Given the description of an element on the screen output the (x, y) to click on. 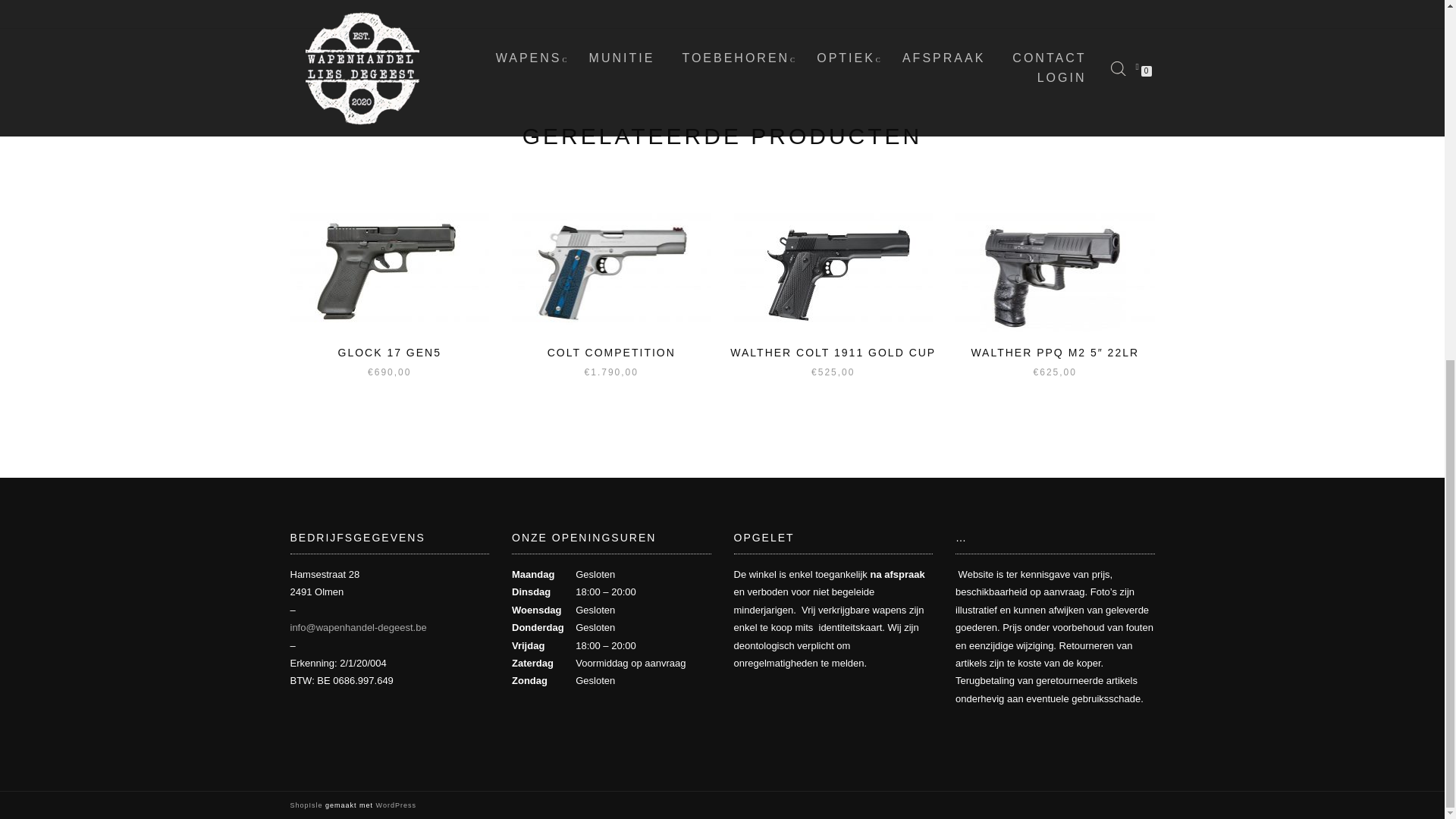
Colt 1911 Gold Cup (832, 272)
PPQ (1054, 272)
Competition (611, 272)
Glock 17 Gen5 (389, 272)
